Given the description of an element on the screen output the (x, y) to click on. 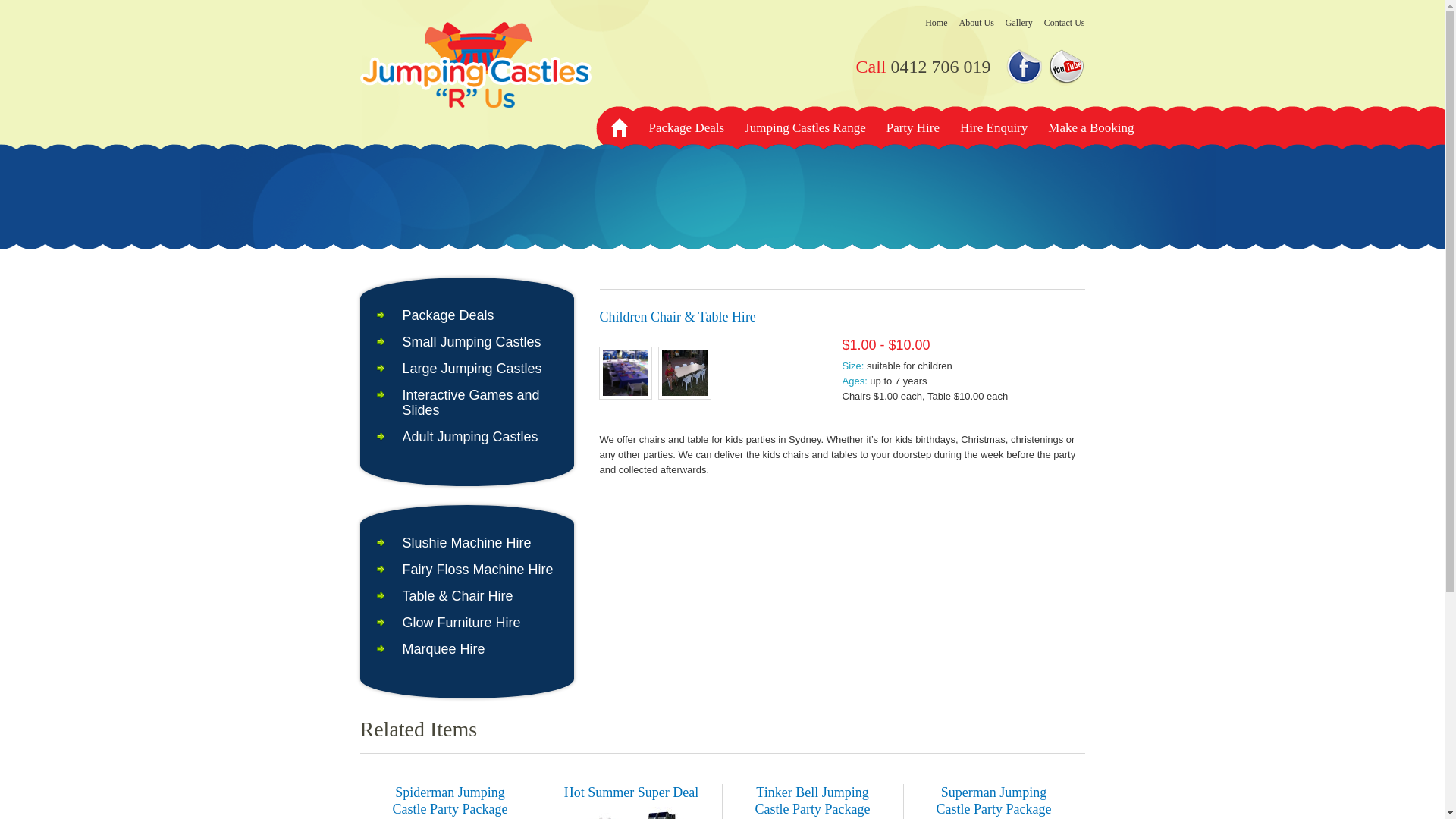
Package Deals Element type: text (686, 127)
Large Jumping Castles Element type: text (471, 368)
Hot Summer Super Deal Element type: text (631, 792)
Gallery Element type: text (1018, 22)
Package Deals Element type: text (447, 315)
Table & Chair Hire Element type: text (456, 595)
Home Element type: text (618, 127)
Interactive Games and Slides Element type: text (470, 402)
Slushie Machine Hire Element type: text (465, 542)
Glow Furniture Hire Element type: text (460, 622)
Adult Jumping Castles Element type: text (469, 436)
Make a Booking Element type: text (1090, 127)
Hire Enquiry Element type: text (993, 127)
About Us Element type: text (975, 22)
Contact Us Element type: text (1064, 22)
Marquee Hire Element type: text (442, 648)
Small Jumping Castles Element type: text (470, 341)
Fairy Floss Machine Hire Element type: text (476, 569)
Home Element type: text (936, 22)
Party Hire Element type: text (912, 127)
Jumping Castles Range Element type: text (805, 127)
